Given the description of an element on the screen output the (x, y) to click on. 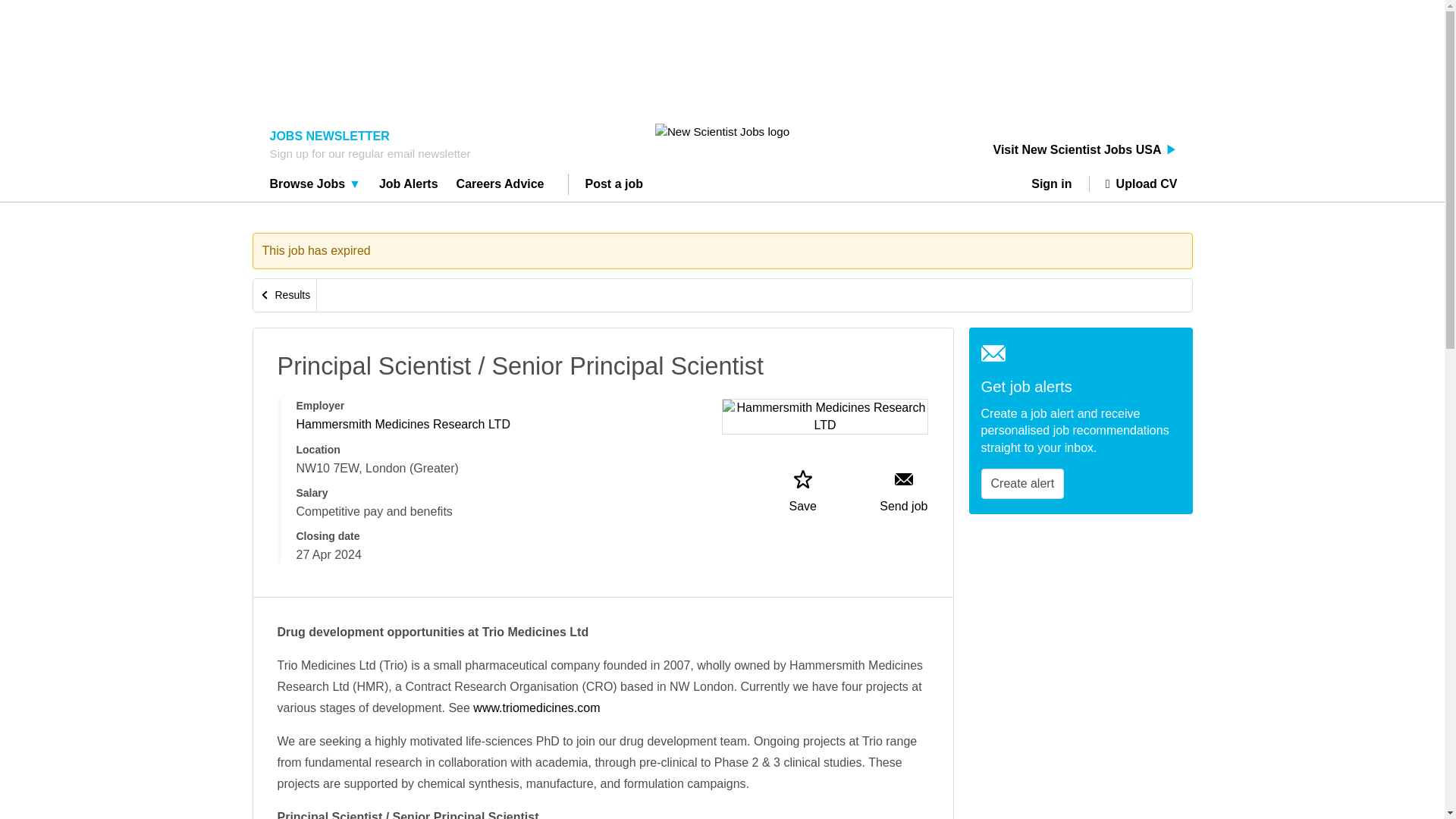
www.triomedicines.com (536, 707)
New Scientist Jobs (722, 131)
Visit New Scientist Jobs USA (1084, 149)
Sign in (1057, 183)
Upload CV (1133, 183)
Hammersmith Medicines Research LTD (402, 423)
Results (285, 295)
Post a job (614, 186)
Careers Advice (500, 186)
Job Alerts (409, 186)
